Given the description of an element on the screen output the (x, y) to click on. 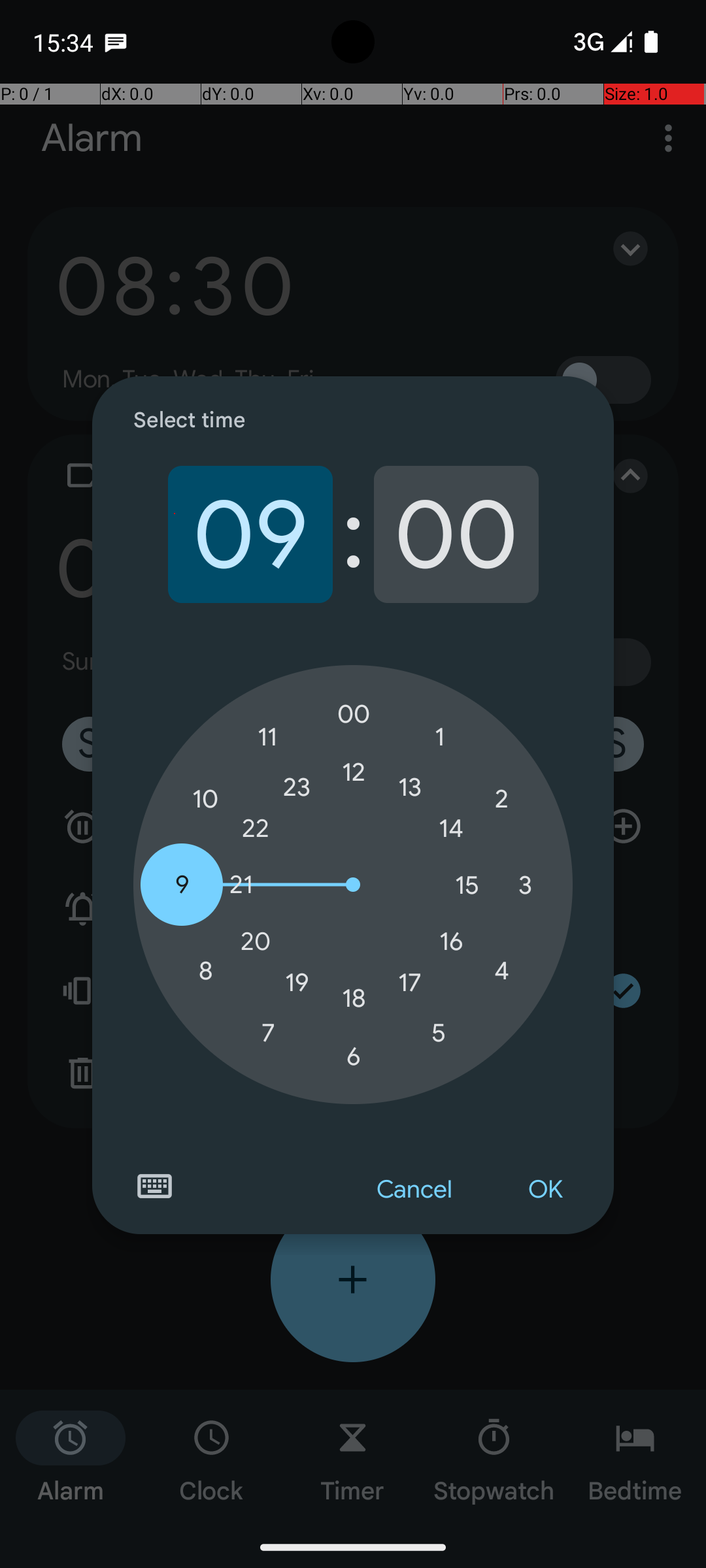
09 Element type: android.view.View (250, 534)
00 Element type: android.view.View (455, 534)
Switch to text input mode for the time input. Element type: android.widget.Button (154, 1186)
Cancel Element type: android.widget.Button (414, 1189)
OK Element type: android.widget.Button (545, 1189)
11 Element type: android.widget.TextView (267, 736)
10 Element type: android.widget.TextView (205, 798)
23 Element type: android.widget.TextView (296, 787)
12 Element type: android.widget.TextView (353, 772)
13 Element type: android.widget.TextView (409, 787)
1 Element type: android.widget.TextView (439, 736)
2 Element type: android.widget.TextView (501, 798)
9 Element type: android.widget.TextView (182, 884)
21 Element type: android.widget.TextView (240, 884)
22 Element type: android.widget.TextView (255, 828)
14 Element type: android.widget.TextView (450, 828)
20 Element type: android.widget.TextView (255, 941)
16 Element type: android.widget.TextView (450, 941)
15 Element type: android.widget.TextView (466, 885)
3 Element type: android.widget.TextView (524, 885)
8 Element type: android.widget.TextView (205, 970)
7 Element type: android.widget.TextView (267, 1032)
19 Element type: android.widget.TextView (296, 982)
18 Element type: android.widget.TextView (353, 998)
6 Element type: android.widget.TextView (353, 1056)
17 Element type: android.widget.TextView (409, 982)
5 Element type: android.widget.TextView (438, 1032)
4 Element type: android.widget.TextView (501, 970)
SMS Messenger notification: Petar Gonzalez Element type: android.widget.ImageView (115, 41)
